Given the description of an element on the screen output the (x, y) to click on. 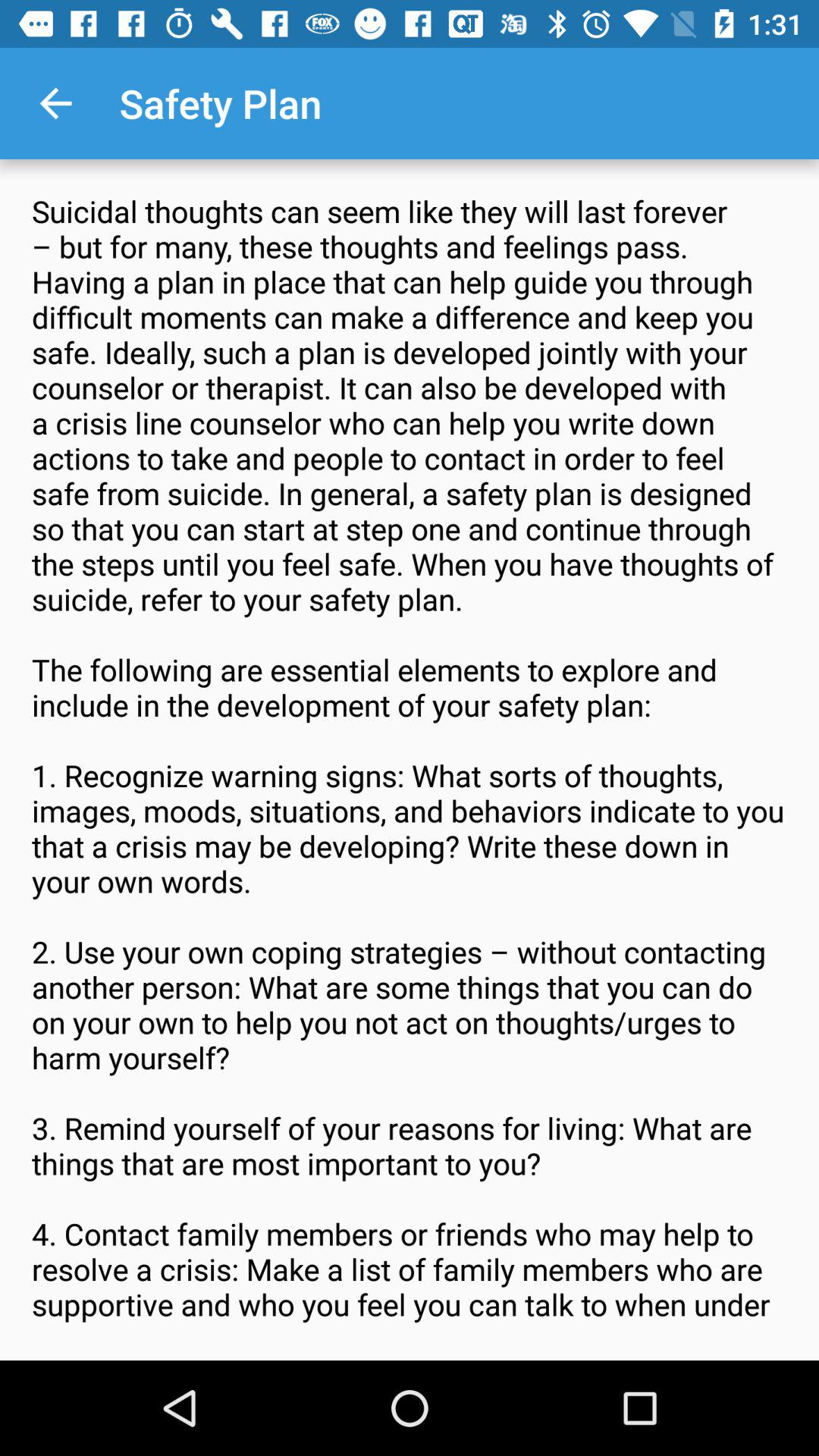
select item next to safety plan icon (55, 103)
